Given the description of an element on the screen output the (x, y) to click on. 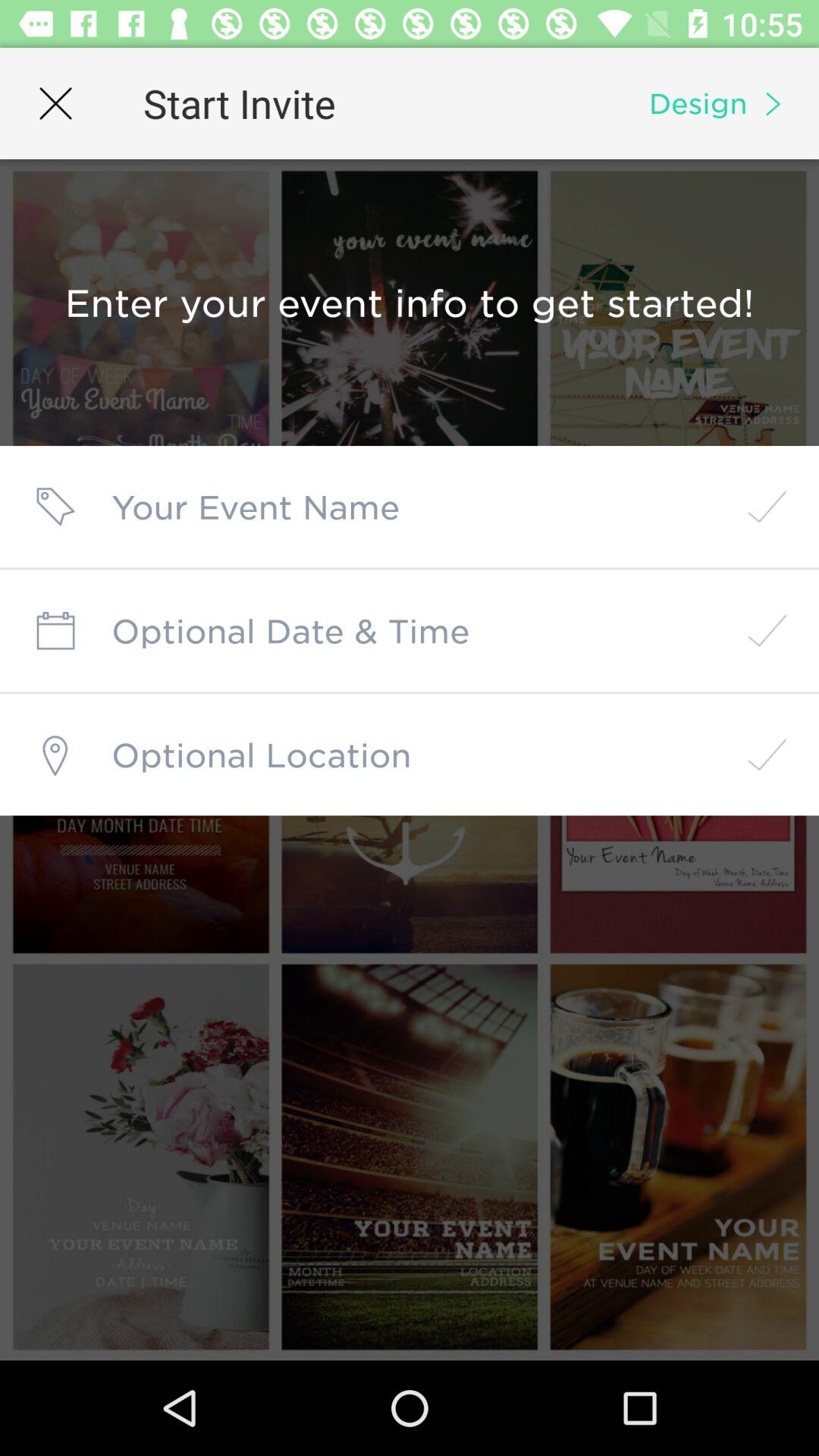
toggle a date time option (409, 630)
